Given the description of an element on the screen output the (x, y) to click on. 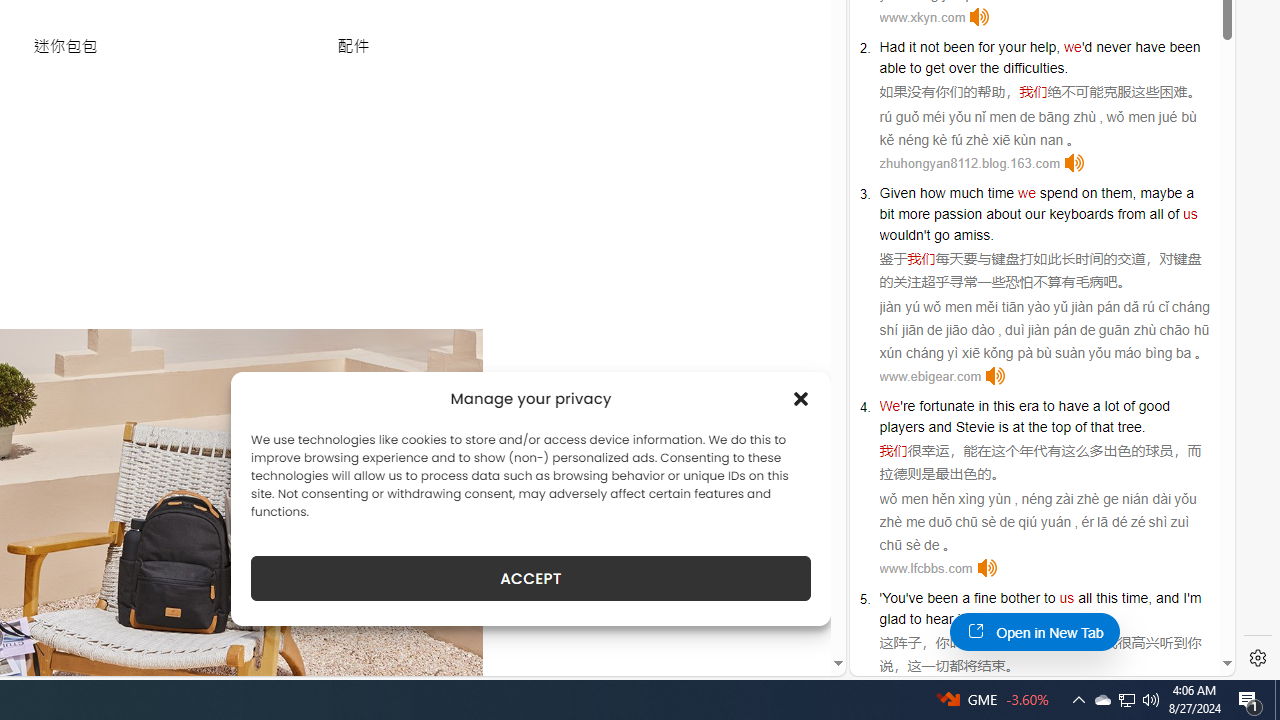
Class: cmplz-close (801, 398)
' (881, 597)
not (929, 46)
Class: flickity-button-icon (437, 561)
over (962, 67)
'm (1193, 597)
a bit (1036, 203)
